Given the description of an element on the screen output the (x, y) to click on. 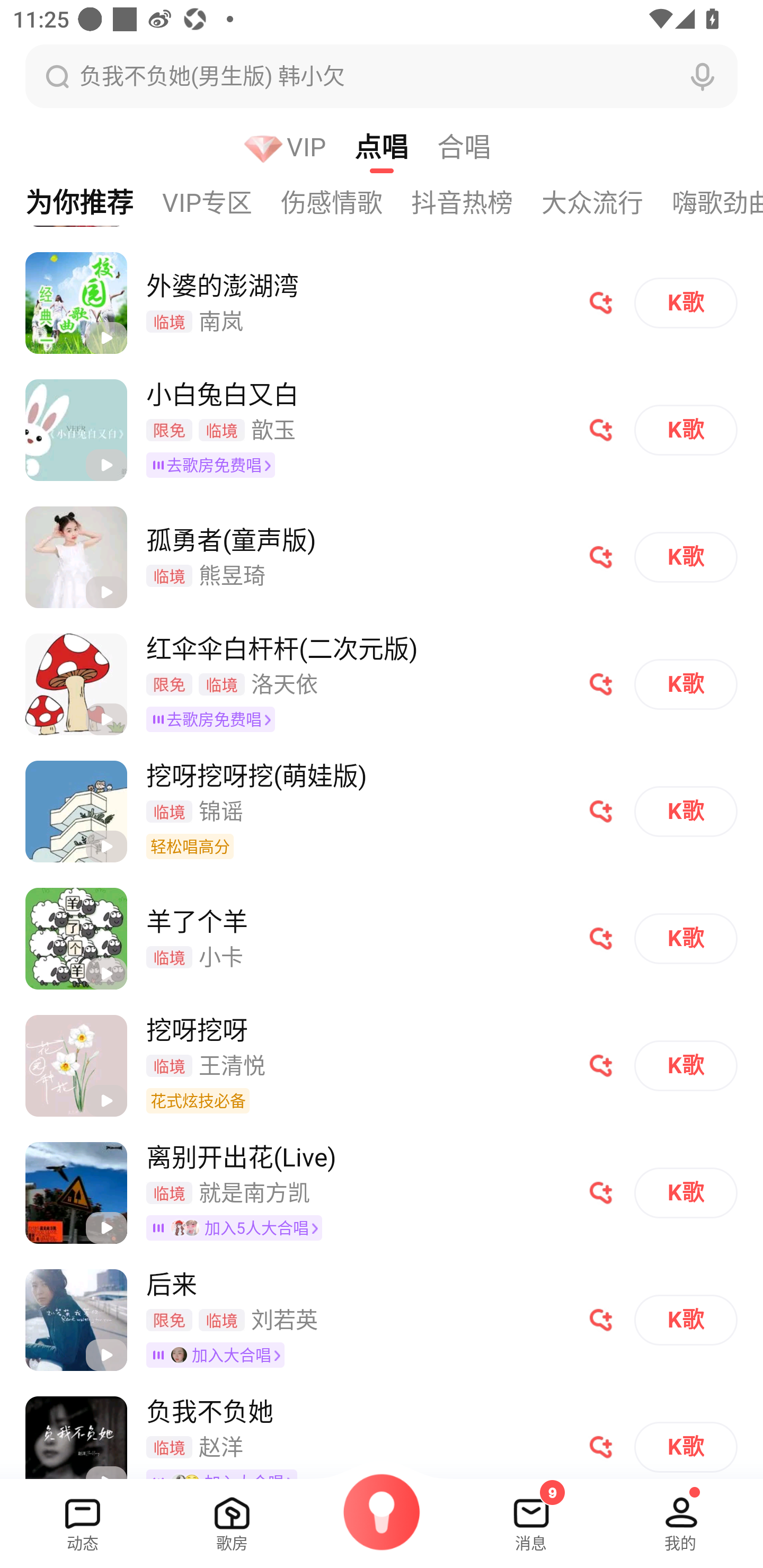
搜索框 搜索 负我不负她(男生版) 韩小欠 搜索框 语音搜索 按钮 (381, 75)
语音搜索 按钮 (702, 76)
VIP (298, 146)
已选中，点唱 按钮 (395, 146)
合唱 按钮 (478, 146)
已选中，为你推荐 按钮 (80, 201)
VIP专区 按钮 (220, 201)
伤感情歌 按钮 (345, 201)
抖音热榜 按钮 (476, 201)
大众流行 按钮 (606, 201)
播放 按钮 外婆的澎湖湾 临境 南岚 点击添加至未唱 按钮 K歌 按钮 (381, 302)
K歌 按钮 (685, 302)
点击添加至未唱 按钮 (600, 302)
播放 按钮 (106, 337)
播放 按钮 小白兔白又白 限免 临境 歆玉 去歌房免费唱 点击添加至未唱 按钮 K歌 按钮 (381, 429)
K歌 按钮 (685, 430)
点击添加至未唱 按钮 (600, 430)
去歌房免费唱 (213, 464)
播放 按钮 (106, 464)
播放 按钮 孤勇者(童声版) 临境 熊昱琦 点击添加至未唱 按钮 K歌 按钮 (381, 556)
K歌 按钮 (685, 557)
点击添加至未唱 按钮 (600, 557)
播放 按钮 (106, 592)
K歌 按钮 (685, 684)
点击添加至未唱 按钮 (600, 684)
去歌房免费唱 (213, 719)
播放 按钮 (106, 719)
播放 按钮 挖呀挖呀挖(萌娃版) 临境 锦谣 轻松唱高分 点击添加至未唱 按钮 K歌 按钮 (381, 810)
K歌 按钮 (685, 811)
点击添加至未唱 按钮 (600, 811)
播放 按钮 (106, 846)
播放 按钮 羊了个羊 临境 小卡 点击添加至未唱 按钮 K歌 按钮 (381, 937)
K歌 按钮 (685, 938)
点击添加至未唱 按钮 (600, 938)
播放 按钮 (106, 973)
播放 按钮 挖呀挖呀 临境 王清悦 花式炫技必备 点击添加至未唱 按钮 K歌 按钮 (381, 1064)
K歌 按钮 (685, 1066)
点击添加至未唱 按钮 (600, 1065)
播放 按钮 (106, 1100)
K歌 按钮 (685, 1193)
点击添加至未唱 按钮 (600, 1192)
加入5人大合唱 (237, 1227)
播放 按钮 (106, 1227)
播放 按钮 后来 限免 临境 刘若英 加入大合唱 点击添加至未唱 按钮 K歌 按钮 (381, 1318)
K歌 按钮 (685, 1320)
点击添加至未唱 按钮 (600, 1319)
加入大合唱 (218, 1354)
播放 按钮 (106, 1354)
播放 按钮 负我不负她 临境 赵洋 加入大合唱 点击添加至未唱 按钮 K歌 按钮 (381, 1430)
K歌 按钮 (685, 1447)
点击添加至未唱 按钮 (600, 1446)
未选中动态 (82, 1516)
未选中歌房 (231, 1516)
已选中录歌 (381, 1523)
未选中消息 (530, 1516)
未选中我的 (680, 1516)
